Given the description of an element on the screen output the (x, y) to click on. 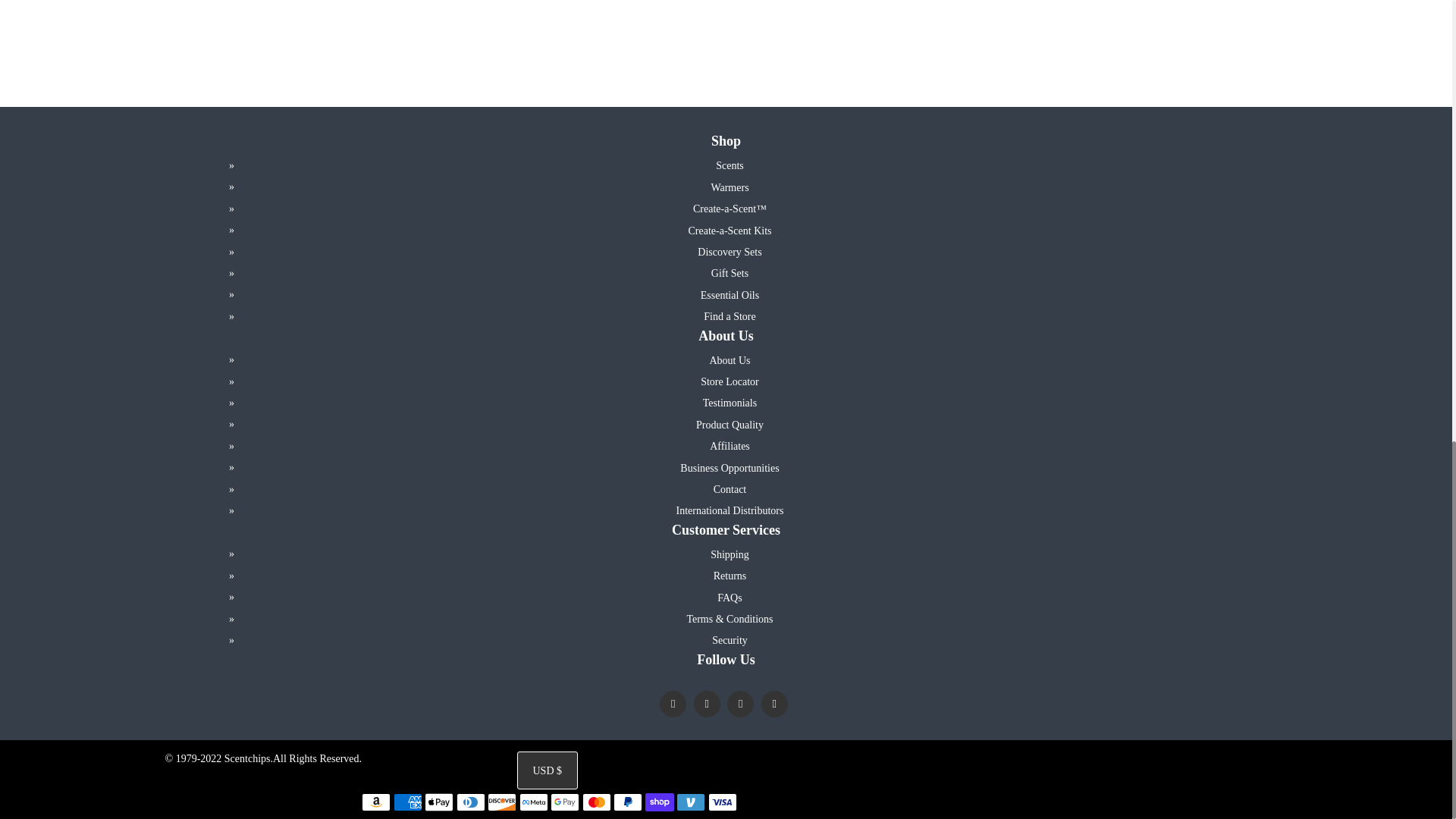
Amazon (375, 802)
Visa (721, 802)
Mastercard (596, 802)
Apple Pay (438, 802)
Diners Club (470, 802)
Shop Pay (659, 802)
Venmo (690, 802)
Google Pay (564, 802)
Discover (501, 802)
Meta Pay (533, 802)
